Given the description of an element on the screen output the (x, y) to click on. 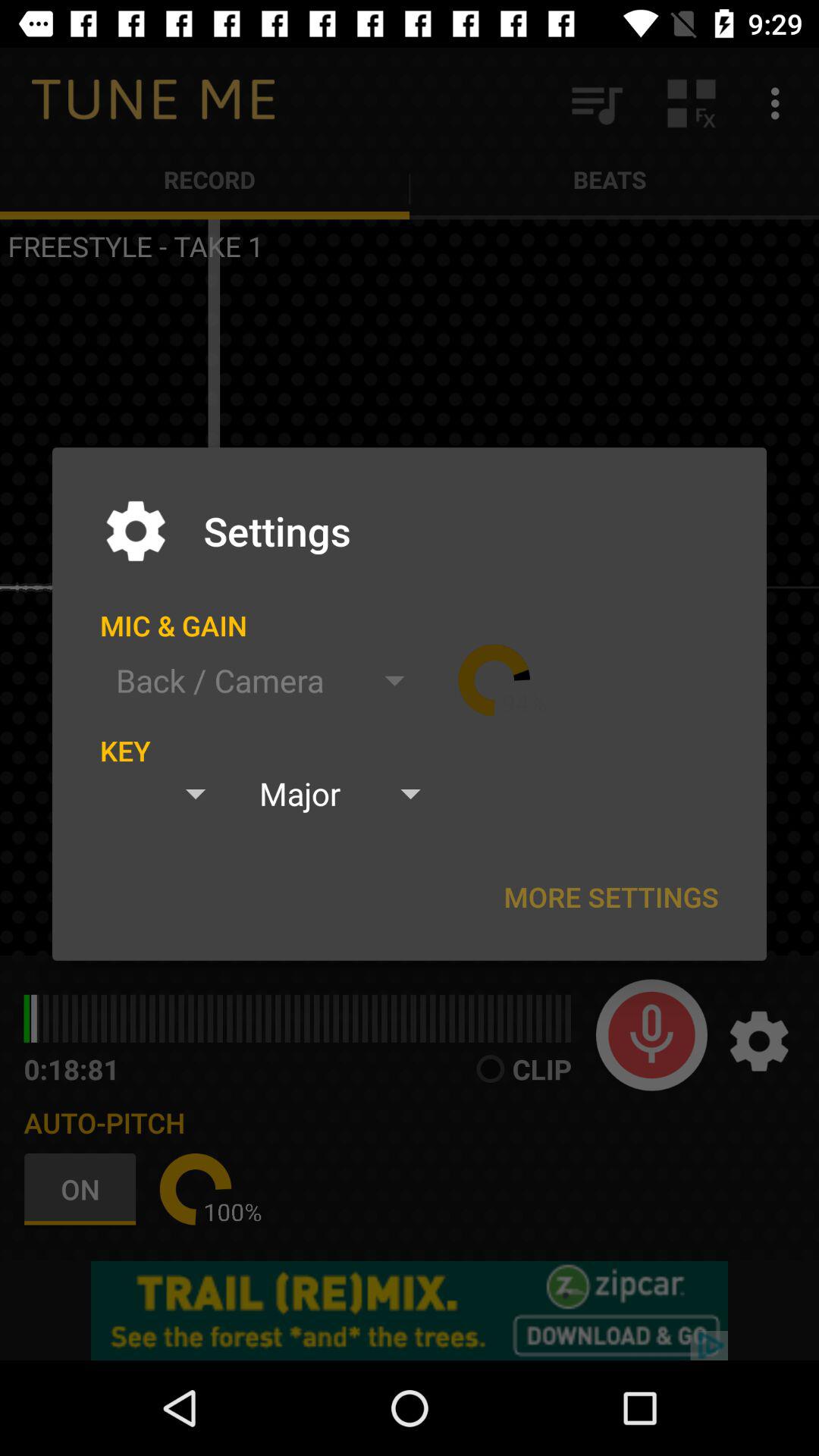
jump until the on (83, 1189)
